Given the description of an element on the screen output the (x, y) to click on. 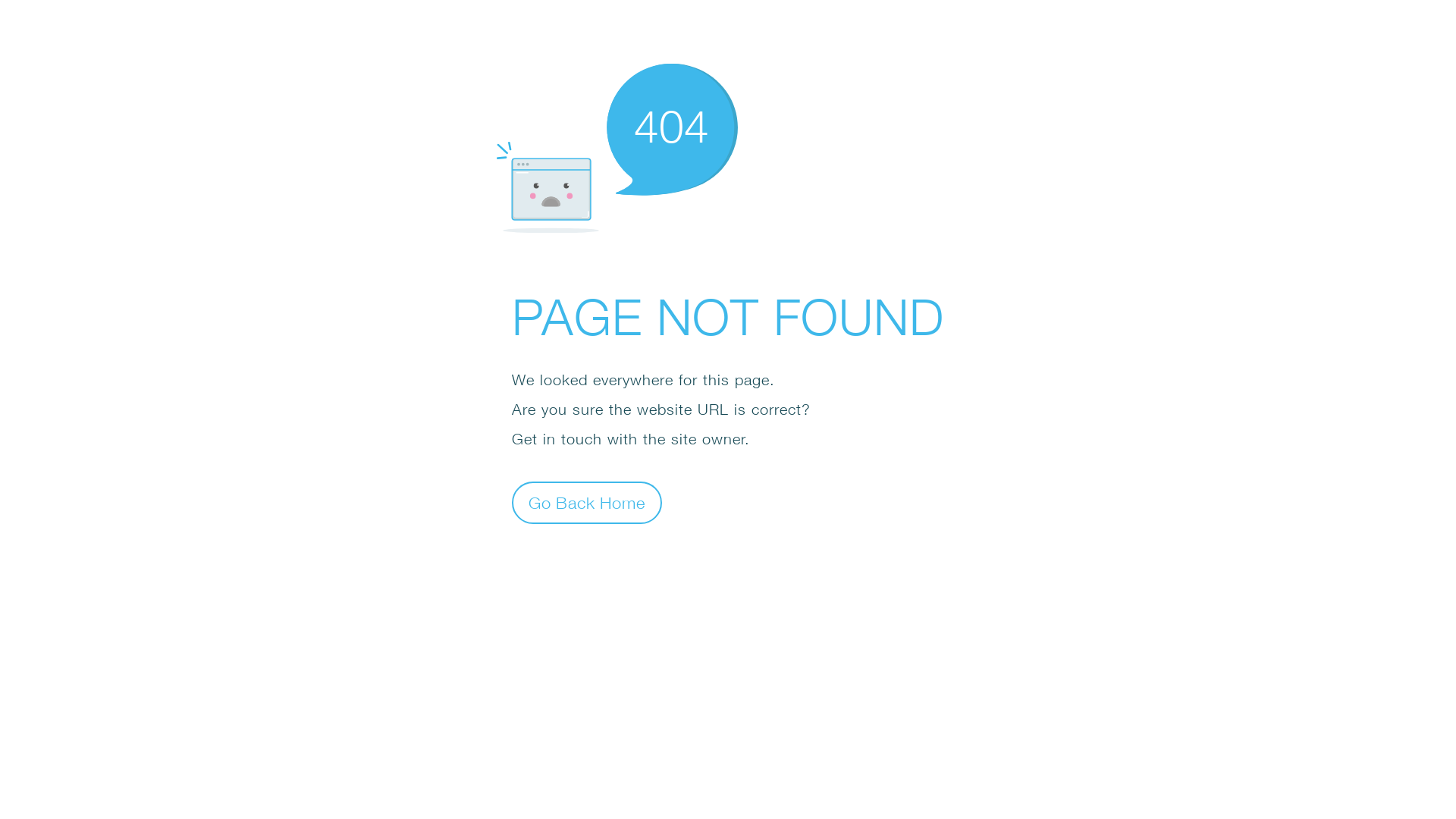
Go Back Home Element type: text (586, 502)
